Given the description of an element on the screen output the (x, y) to click on. 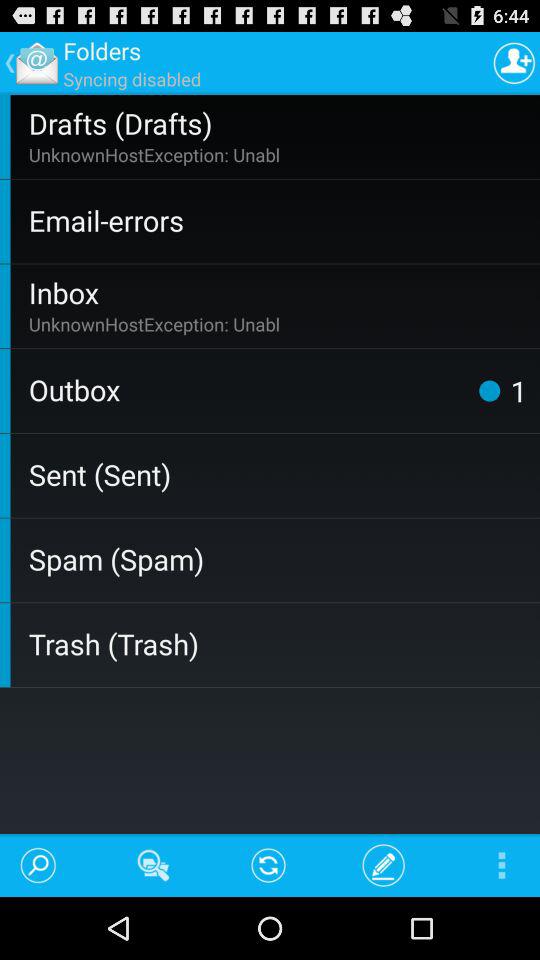
click the sent (sent) item (280, 473)
